Given the description of an element on the screen output the (x, y) to click on. 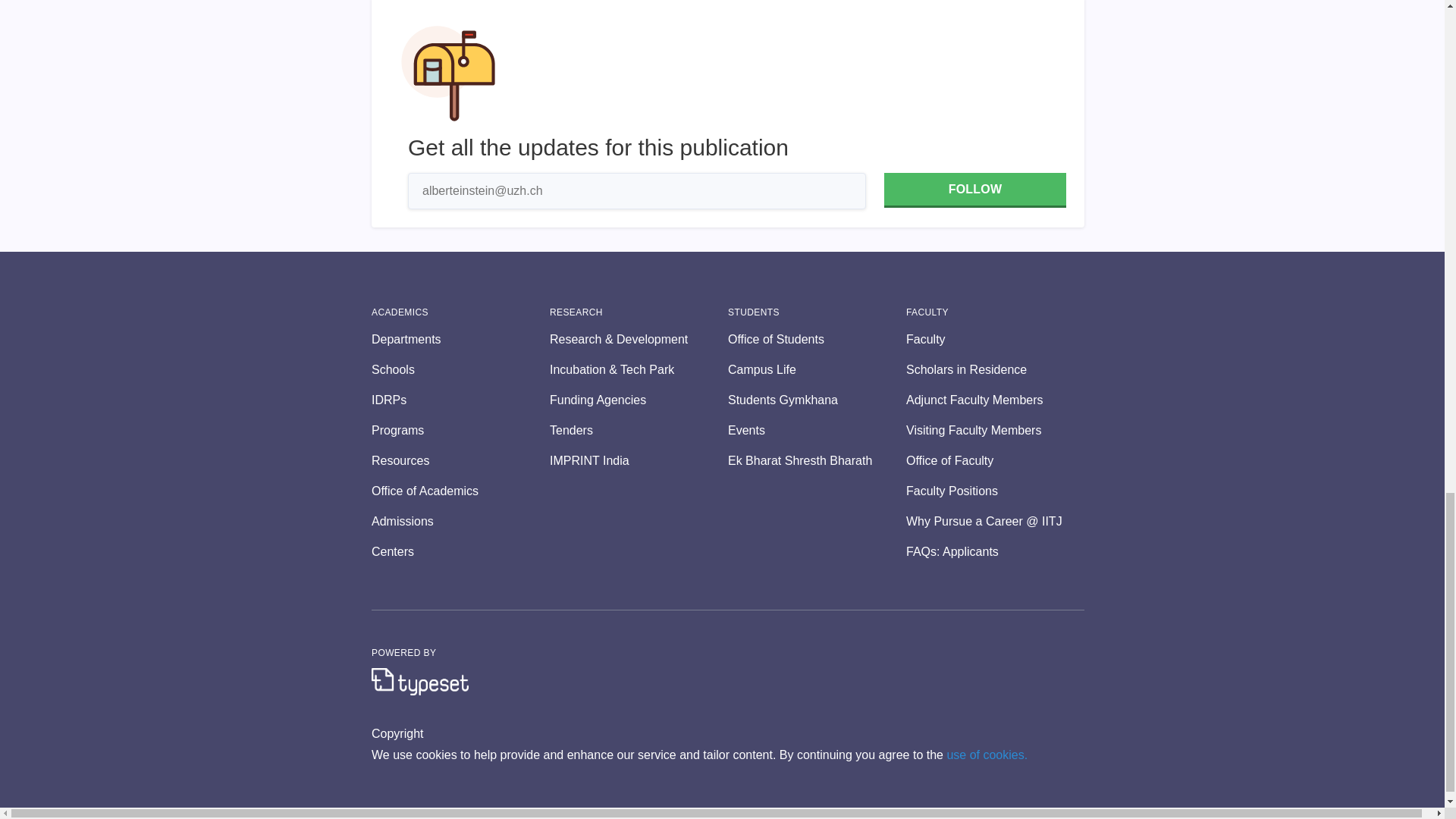
Funding Agencies (639, 400)
Departments (460, 339)
Students Gymkhana (816, 400)
Campus Life (816, 370)
Resources (460, 461)
FOLLOW (974, 190)
IDRPs (460, 400)
IMPRINT India (639, 461)
Subscribe form hero illustration (448, 73)
Centers (460, 551)
Office of Students (816, 339)
Tenders (639, 430)
Admissions (460, 521)
Events (816, 430)
Ek Bharat Shresth Bharath (816, 461)
